Given the description of an element on the screen output the (x, y) to click on. 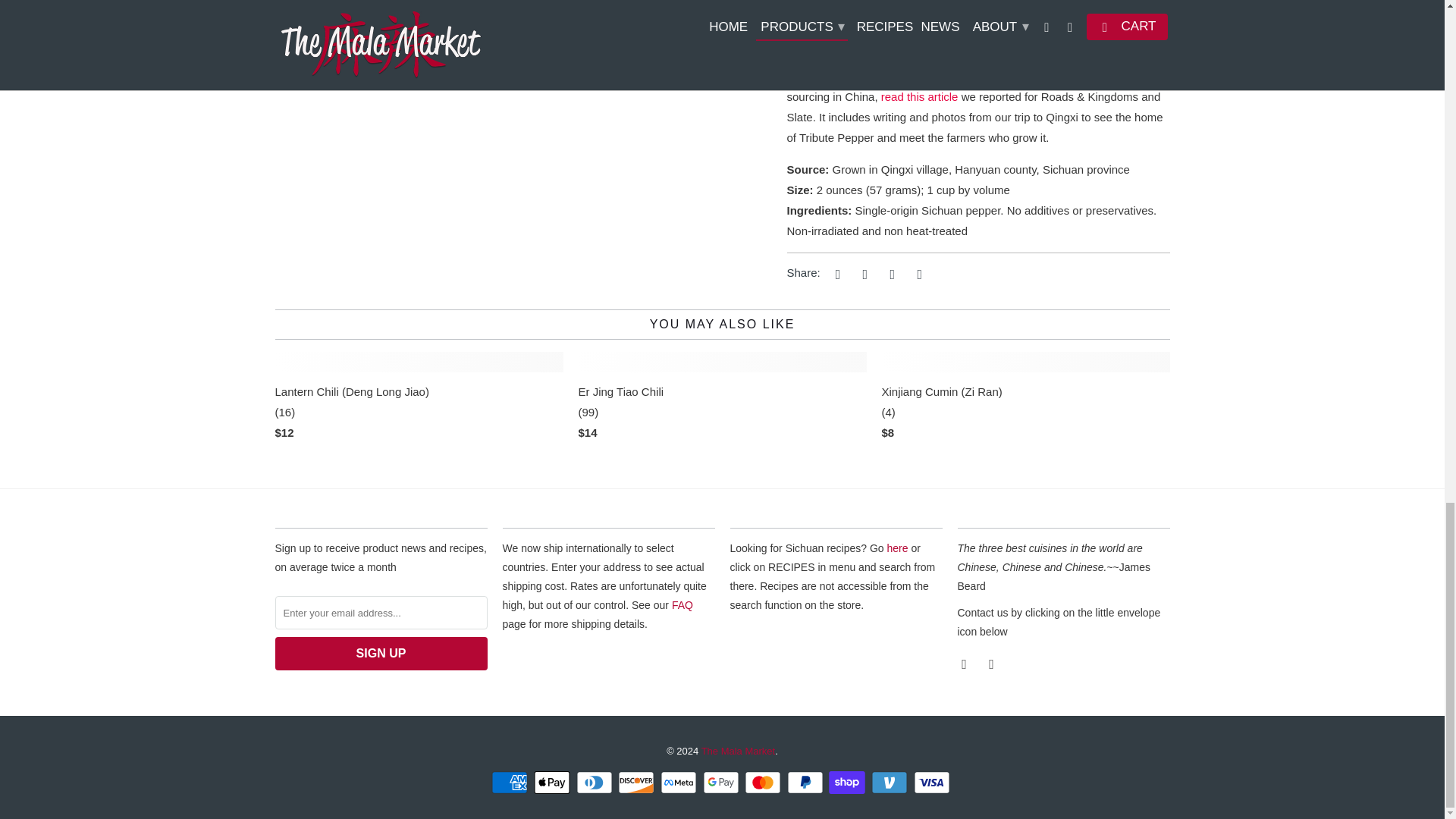
FAQ (682, 604)
Discover (637, 782)
American Express (511, 782)
Shop Pay (847, 782)
Share this on Facebook (862, 273)
Google Pay (721, 782)
Visa (933, 782)
Sichuan pepper (816, 23)
Sign Up (380, 653)
Diners Club (595, 782)
